Given the description of an element on the screen output the (x, y) to click on. 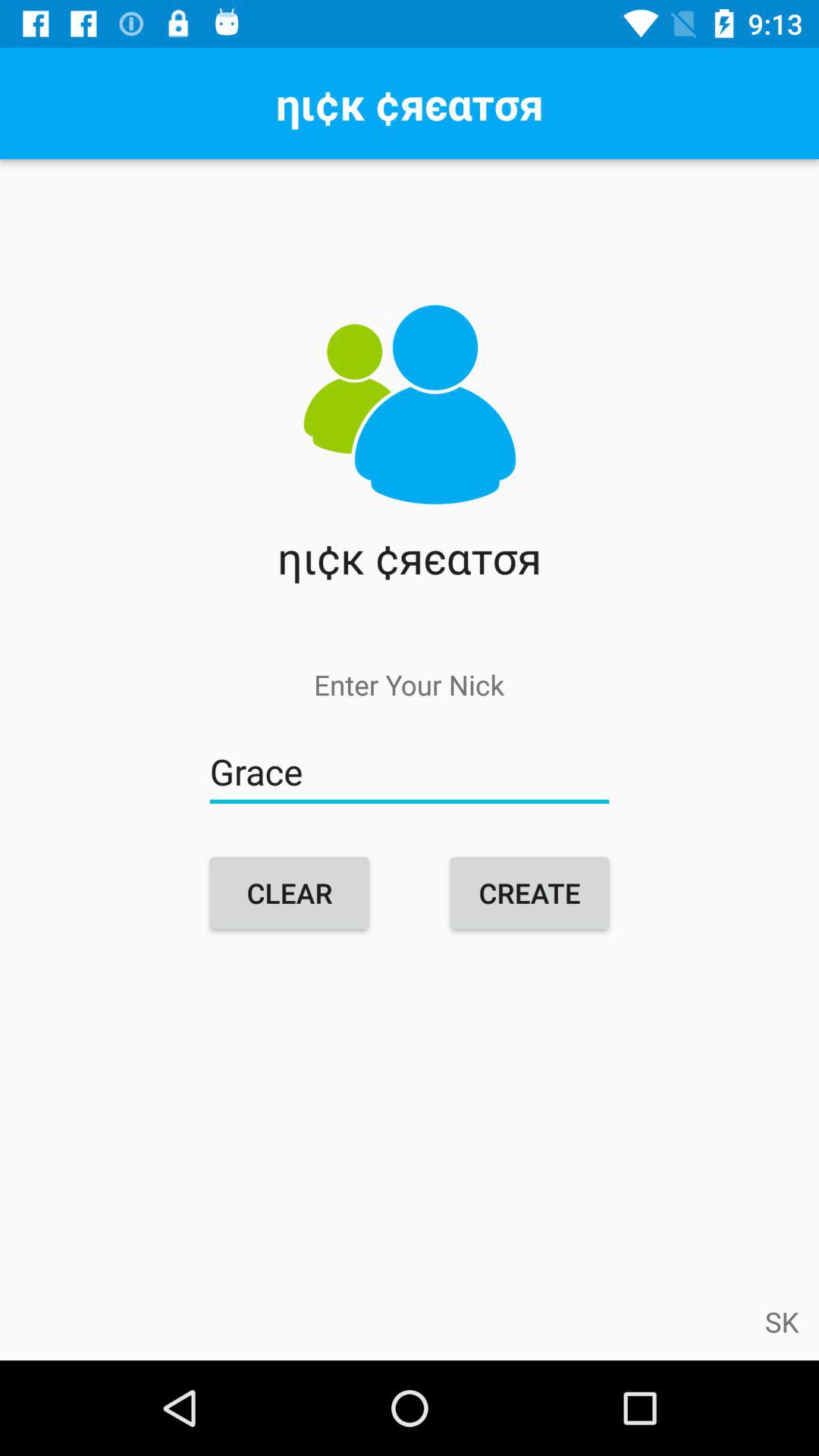
open the clear (289, 892)
